Given the description of an element on the screen output the (x, y) to click on. 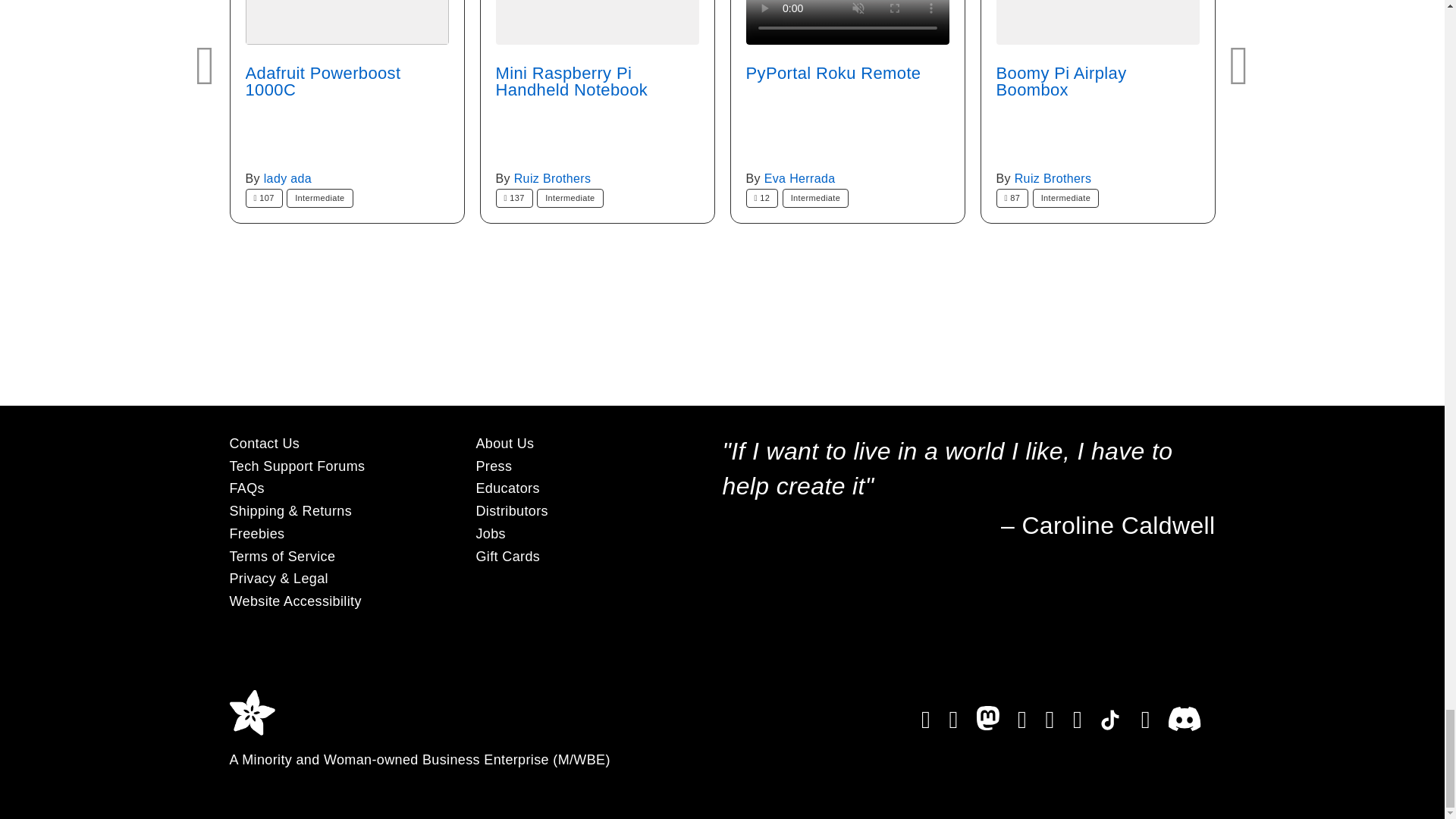
Saves (514, 198)
Saves (264, 198)
Saves (1012, 198)
Saves (761, 198)
